Given the description of an element on the screen output the (x, y) to click on. 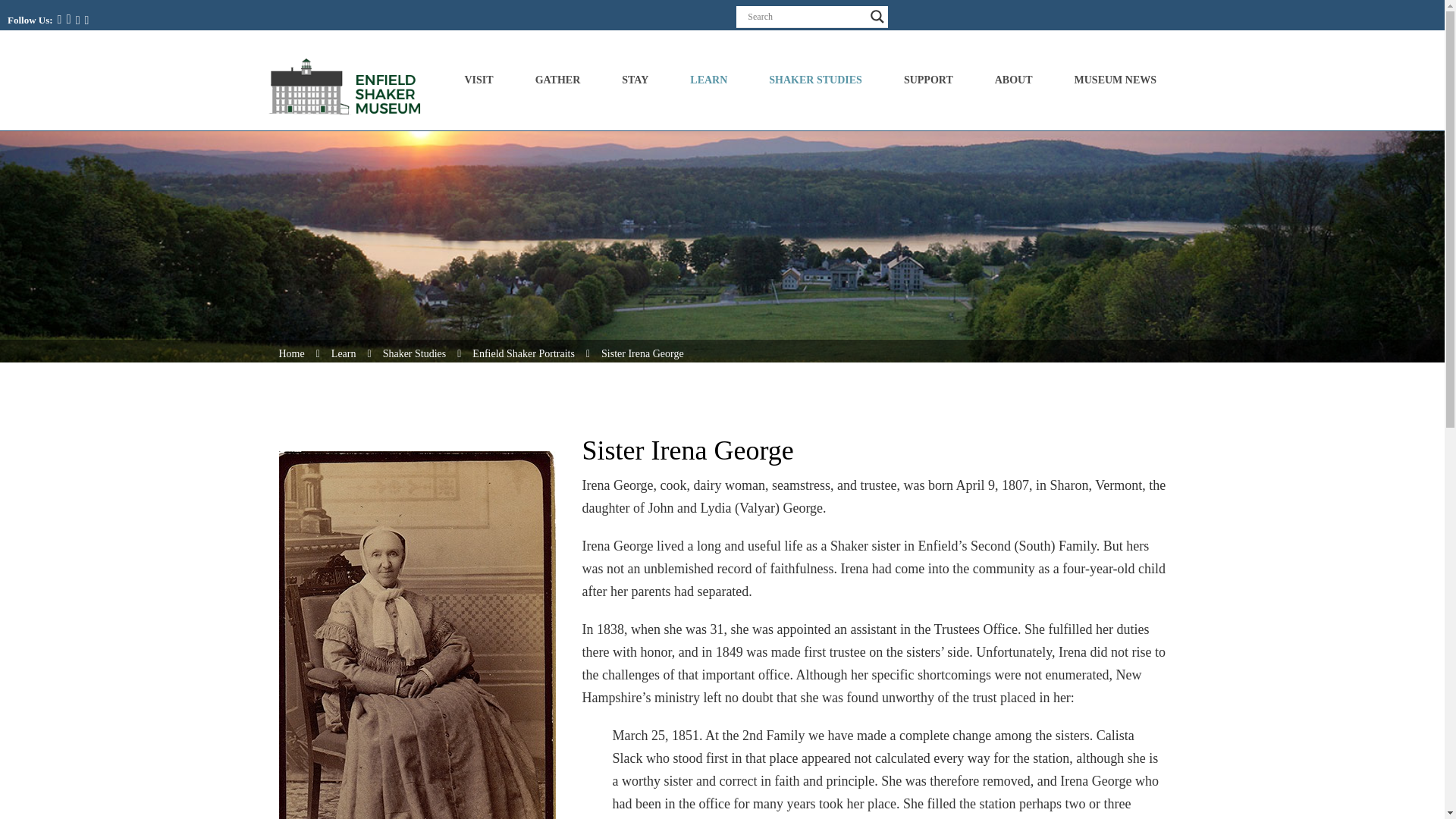
Sister Irena George (642, 353)
Shaker Studies (414, 353)
Learn (343, 353)
Enfield Shaker Portraits (523, 353)
Home (291, 353)
